Given the description of an element on the screen output the (x, y) to click on. 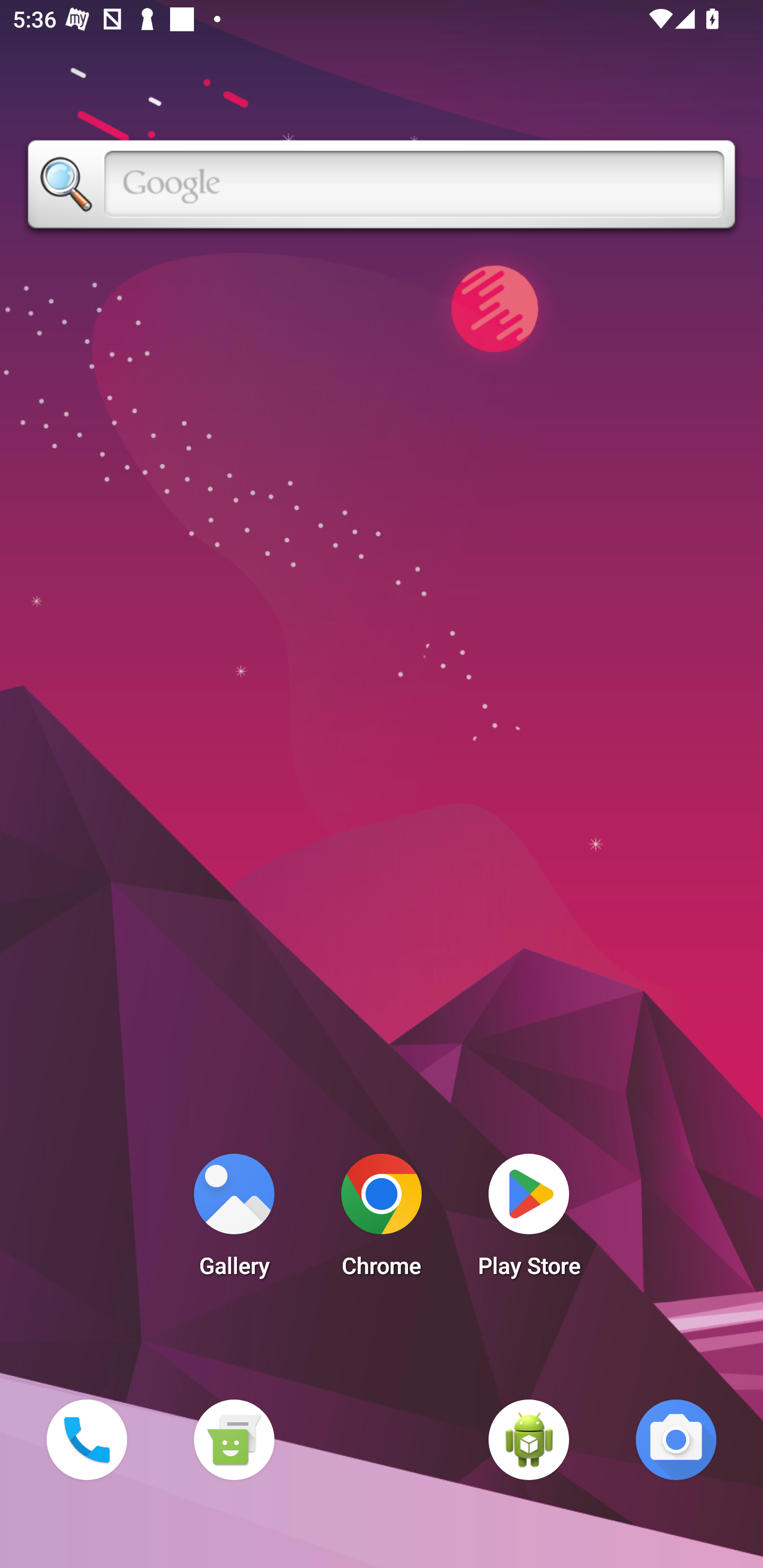
Gallery (233, 1220)
Chrome (381, 1220)
Play Store (528, 1220)
Phone (86, 1439)
Messaging (233, 1439)
WebView Browser Tester (528, 1439)
Camera (676, 1439)
